Given the description of an element on the screen output the (x, y) to click on. 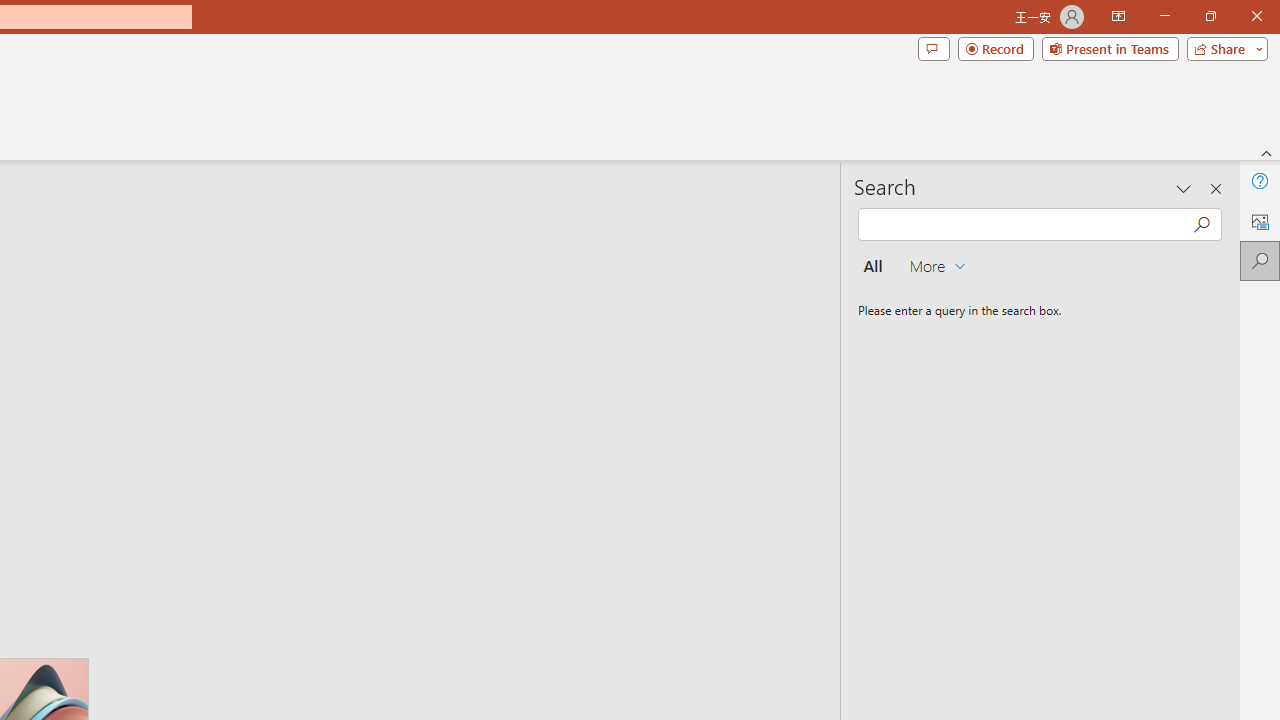
Alt Text (1260, 220)
